Given the description of an element on the screen output the (x, y) to click on. 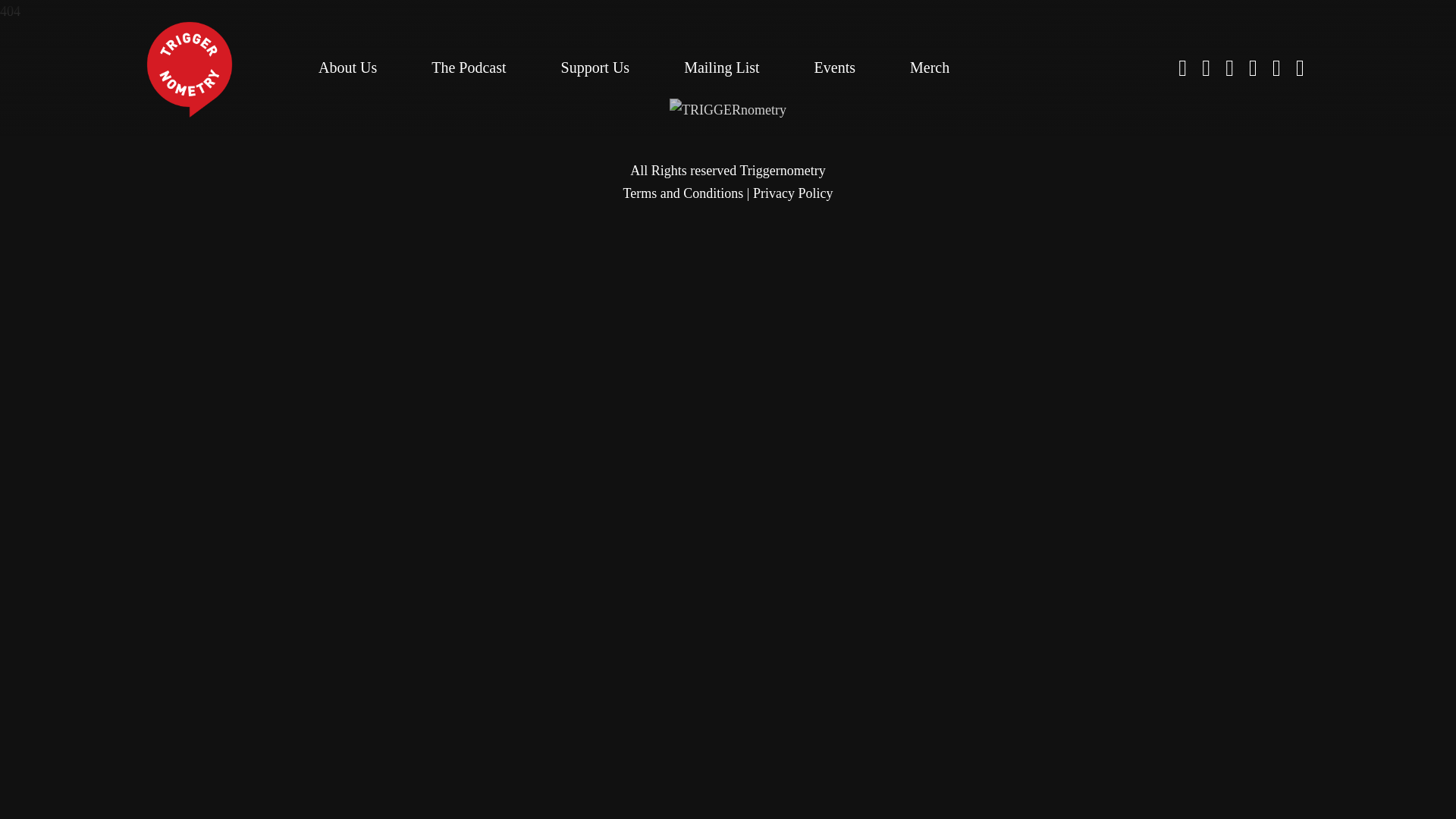
Support Us (595, 67)
Terms and Conditions (683, 192)
Merch (929, 67)
About Us (347, 67)
Mailing List (721, 67)
Events (834, 67)
Privacy Policy (792, 192)
The Podcast (467, 67)
